Given the description of an element on the screen output the (x, y) to click on. 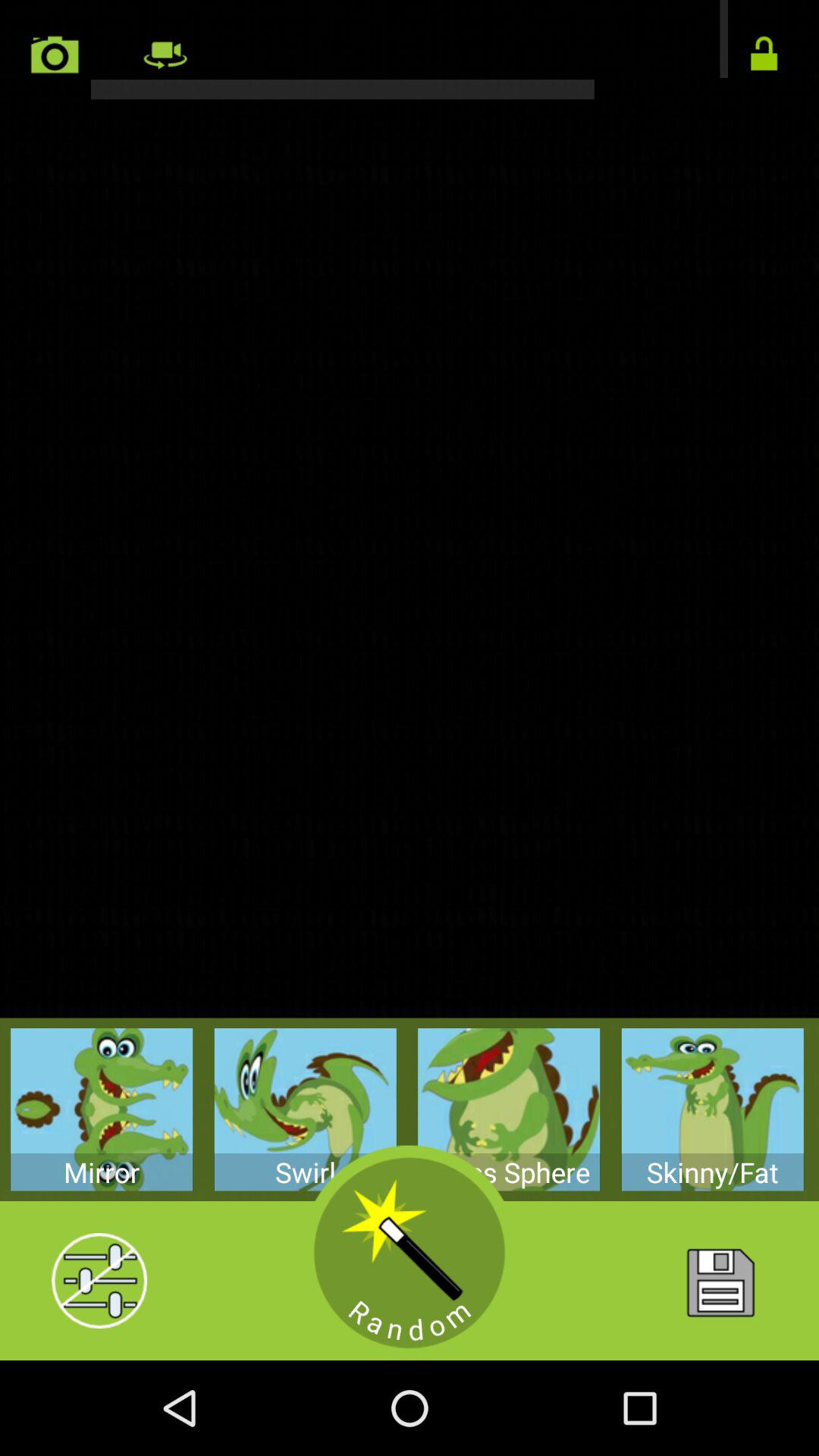
select a random tool (409, 1252)
